Given the description of an element on the screen output the (x, y) to click on. 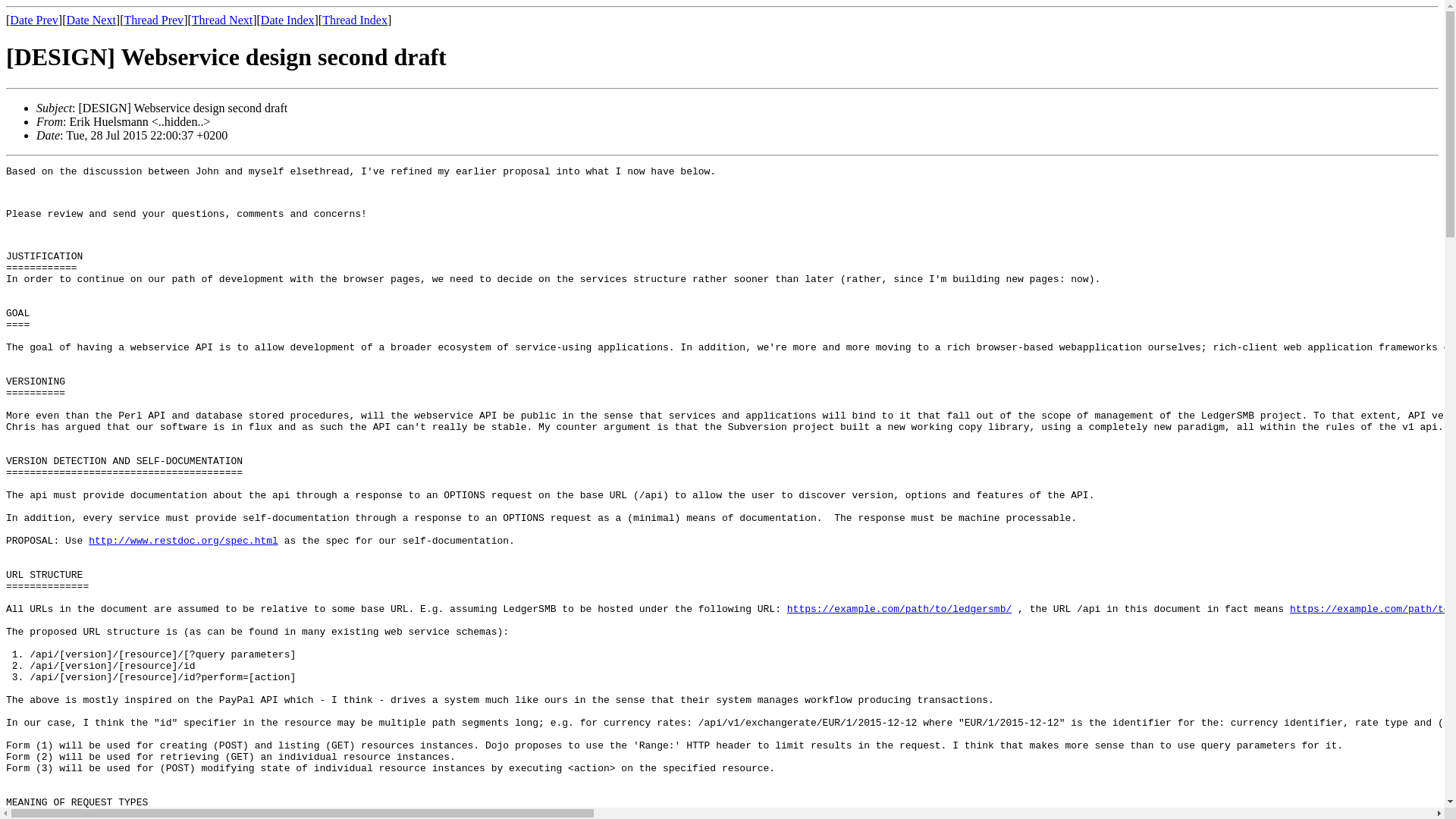
Thread Index (354, 19)
Thread Prev (153, 19)
Thread Next (221, 19)
Date Index (287, 19)
Date Next (91, 19)
Date Prev (34, 19)
